Given the description of an element on the screen output the (x, y) to click on. 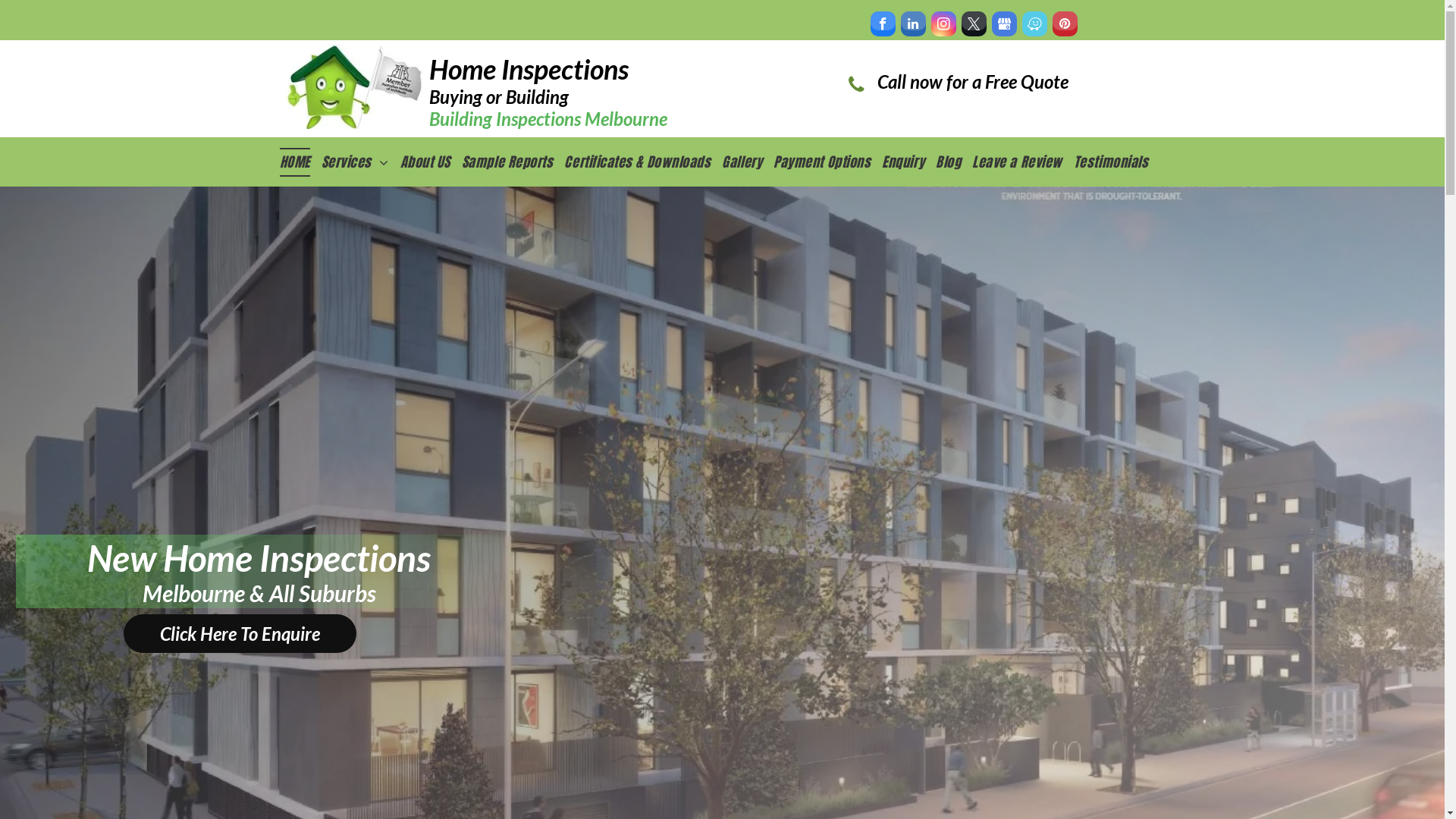
Payment Options Element type: text (827, 161)
Certificates & Downloads Element type: text (642, 161)
Services Element type: text (360, 161)
Click Here To Enquire Element type: text (239, 633)
Testimonials Element type: text (1116, 161)
About US Element type: text (430, 161)
Blog Element type: text (953, 161)
Gallery Element type: text (747, 161)
Sample Reports Element type: text (512, 161)
Leave a Review Element type: text (1022, 161)
Call now for a Free Quote Element type: text (972, 84)
Enquiry Element type: text (908, 161)
Building Inspection Services Element type: hover (352, 85)
HOME Element type: text (299, 161)
